Given the description of an element on the screen output the (x, y) to click on. 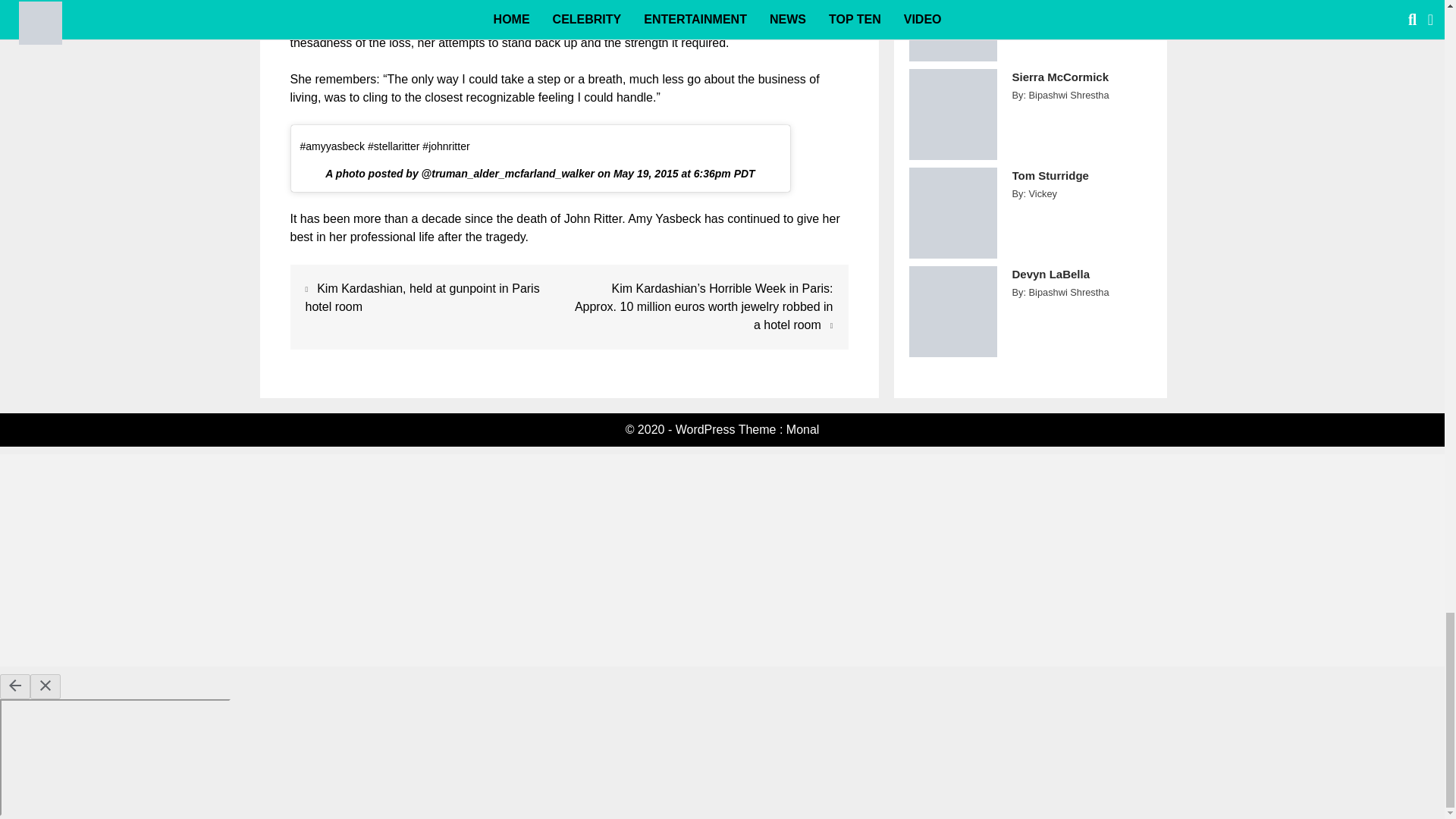
Kim Kardashian, held at gunpoint in Paris hotel room (421, 296)
Advertisement (568, 7)
